Given the description of an element on the screen output the (x, y) to click on. 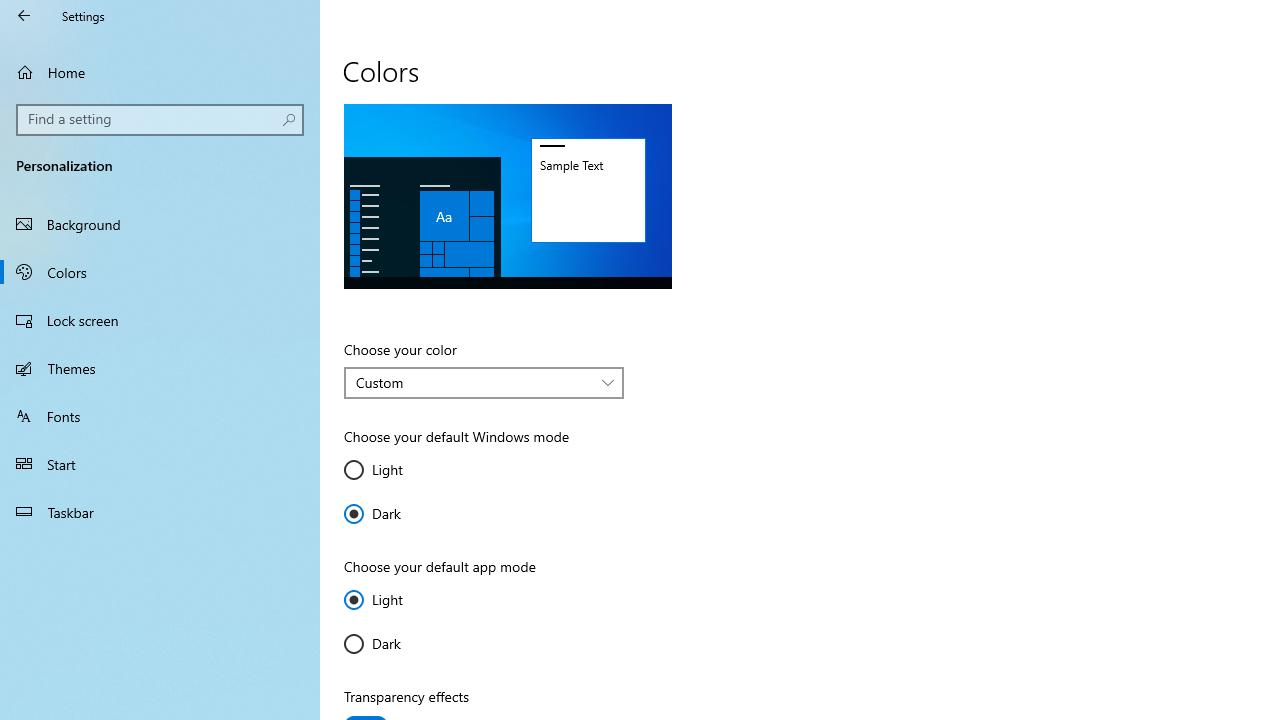
Background (160, 223)
Dark (403, 643)
Lock screen (160, 319)
Fonts (160, 415)
Light (403, 599)
Themes (160, 367)
Choose your color (484, 382)
Taskbar (160, 511)
Custom (473, 381)
Colors (160, 271)
